Given the description of an element on the screen output the (x, y) to click on. 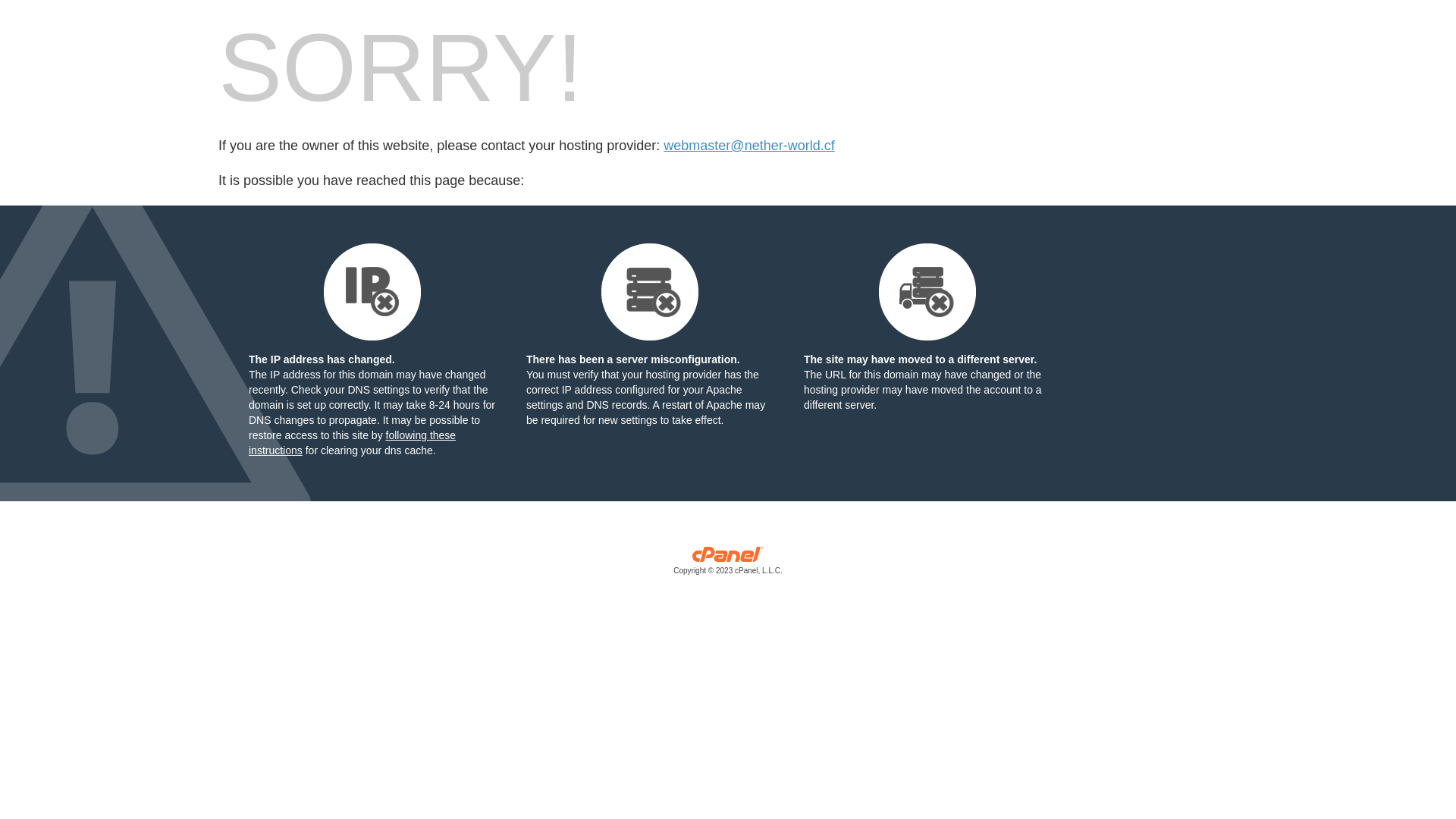
following these instructions Element type: text (351, 442)
webmaster@nether-world.cf Element type: text (748, 145)
